Given the description of an element on the screen output the (x, y) to click on. 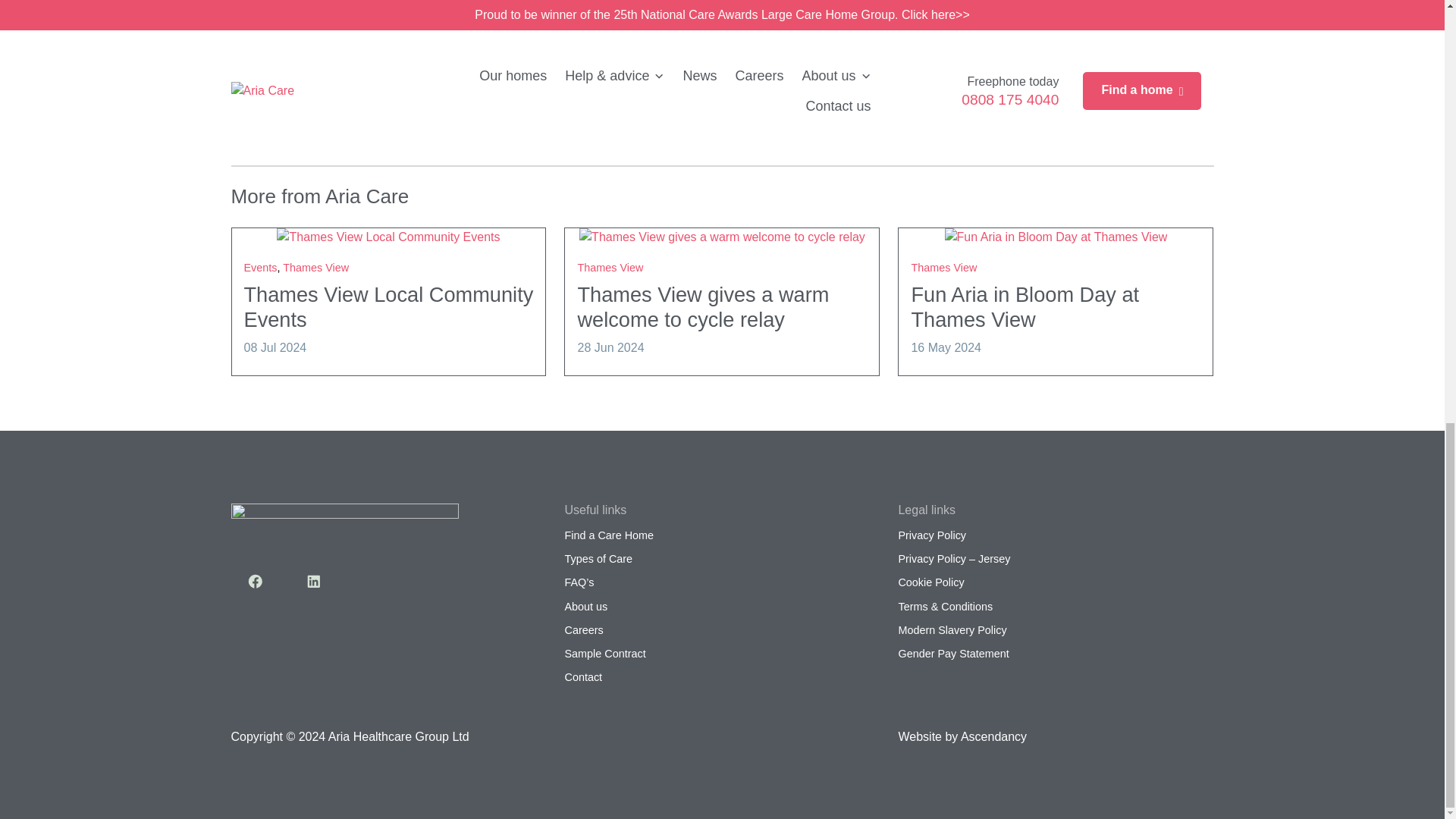
Thames View gives a warm welcome to cycle relay (702, 306)
Thames View gives a warm welcome to cycle relay (721, 236)
Facebook (254, 581)
Thames View gives a warm welcome to cycle relay (702, 306)
Fun Aria in Bloom Day at Thames View (1055, 236)
Fun Aria in Bloom Day at Thames View (1024, 306)
Thames View (609, 267)
Thames View Local Community Events (389, 306)
Thames View Local Community Events (389, 306)
Events (261, 267)
